Given the description of an element on the screen output the (x, y) to click on. 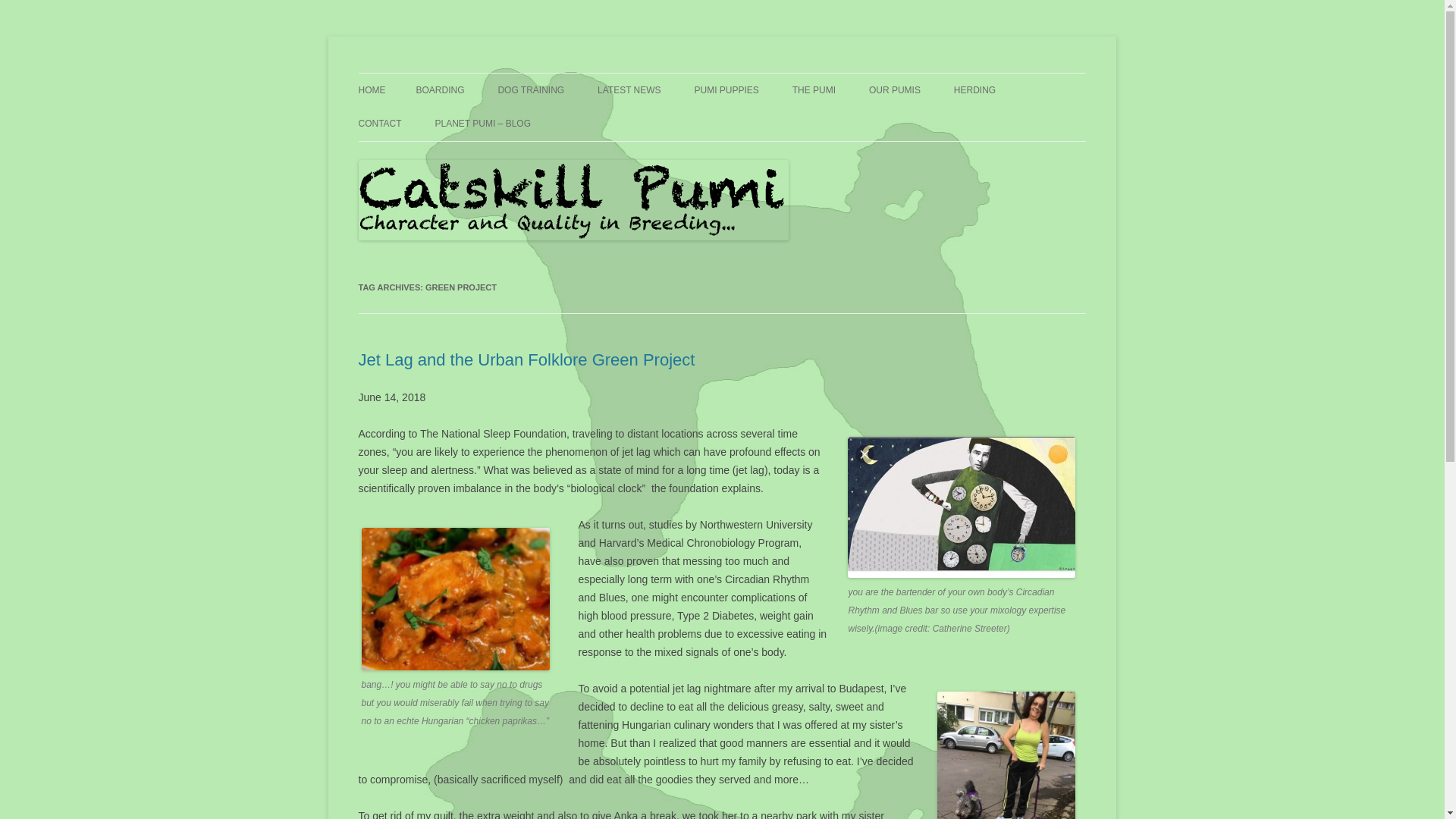
LATEST NEWS (628, 90)
Catskill Pumi (419, 72)
THE PUMI (813, 90)
Catskill Pumi (419, 72)
DOG TRAINING (530, 90)
HERDING (974, 90)
PUMI PUPPIES (726, 90)
Jet Lag and the Urban Folklore Green Project (526, 359)
BOARDING (439, 90)
